Given the description of an element on the screen output the (x, y) to click on. 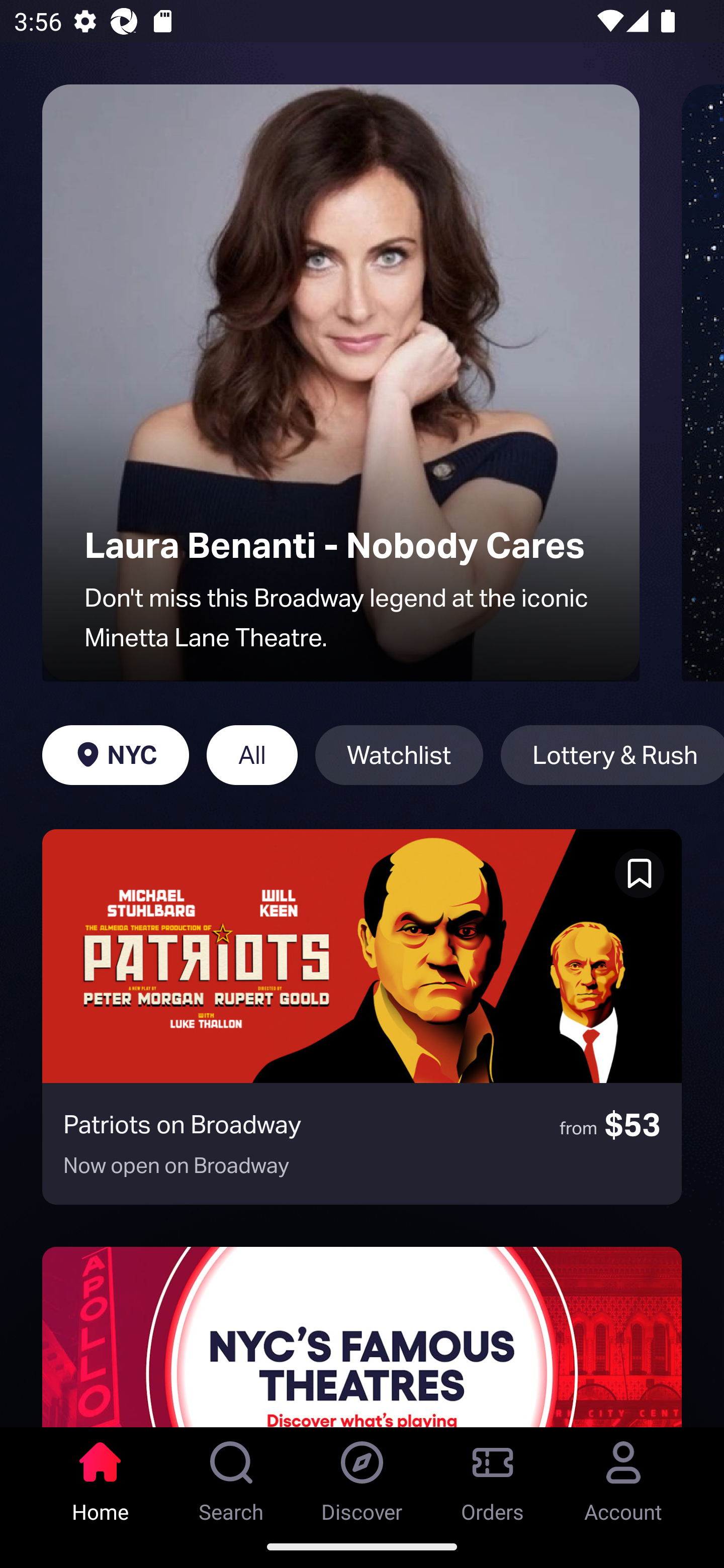
NYC (114, 754)
All (251, 754)
Watchlist (398, 754)
Lottery & Rush (612, 754)
Patriots on Broadway from $53 Now open on Broadway (361, 1016)
Search (230, 1475)
Discover (361, 1475)
Orders (492, 1475)
Account (623, 1475)
